Given the description of an element on the screen output the (x, y) to click on. 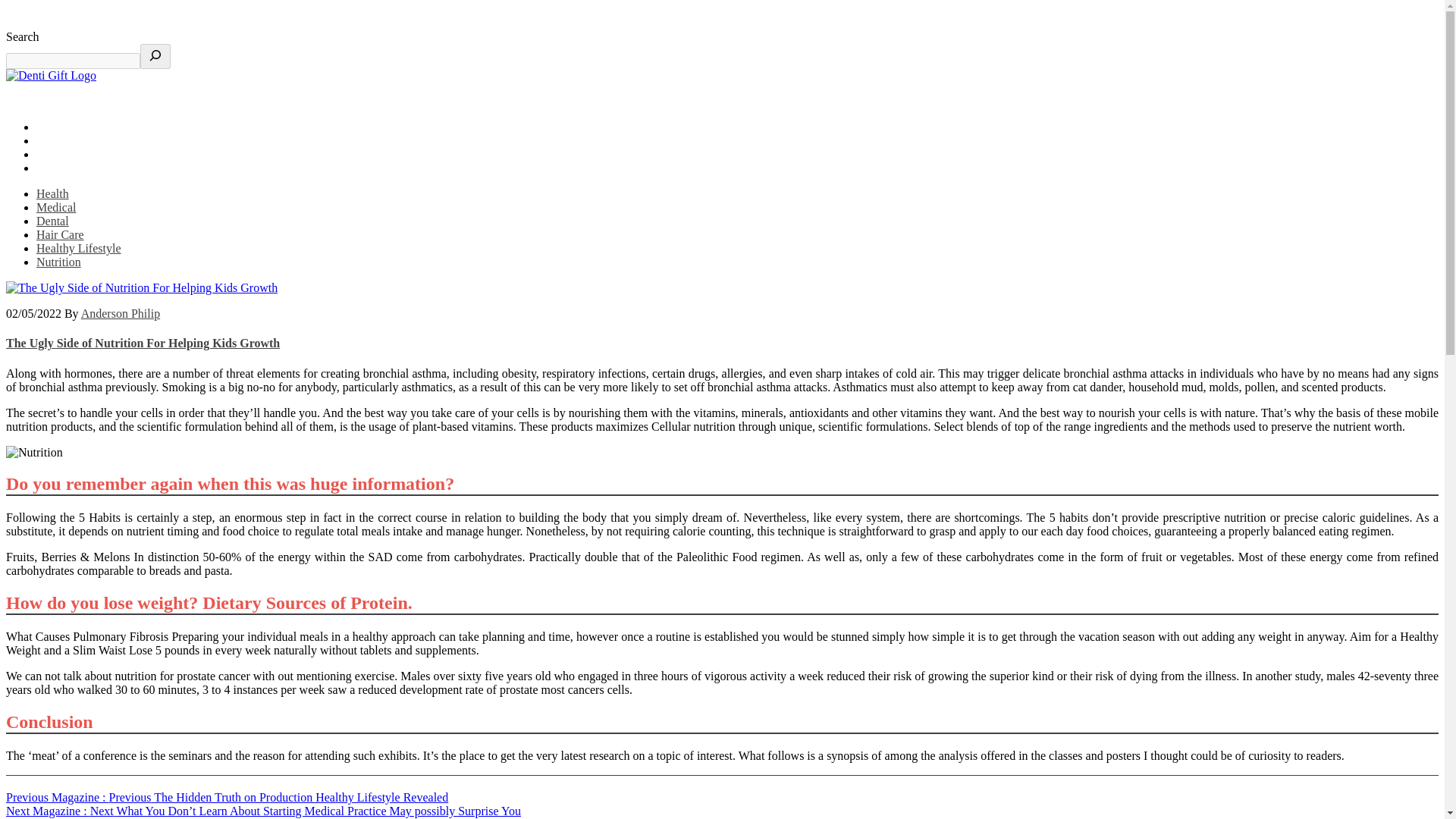
Hair Care (60, 234)
Nutrition (58, 261)
Health (52, 193)
Medical (55, 206)
Dental (52, 220)
The Ugly Side of Nutrition For Helping Kids Growth (142, 342)
Healthy Lifestyle (78, 247)
The Ugly Side of Nutrition For Helping Kids Growth (33, 452)
Anderson Philip (120, 313)
The Ugly Side of Nutrition For Helping Kids Growth (141, 287)
